Given the description of an element on the screen output the (x, y) to click on. 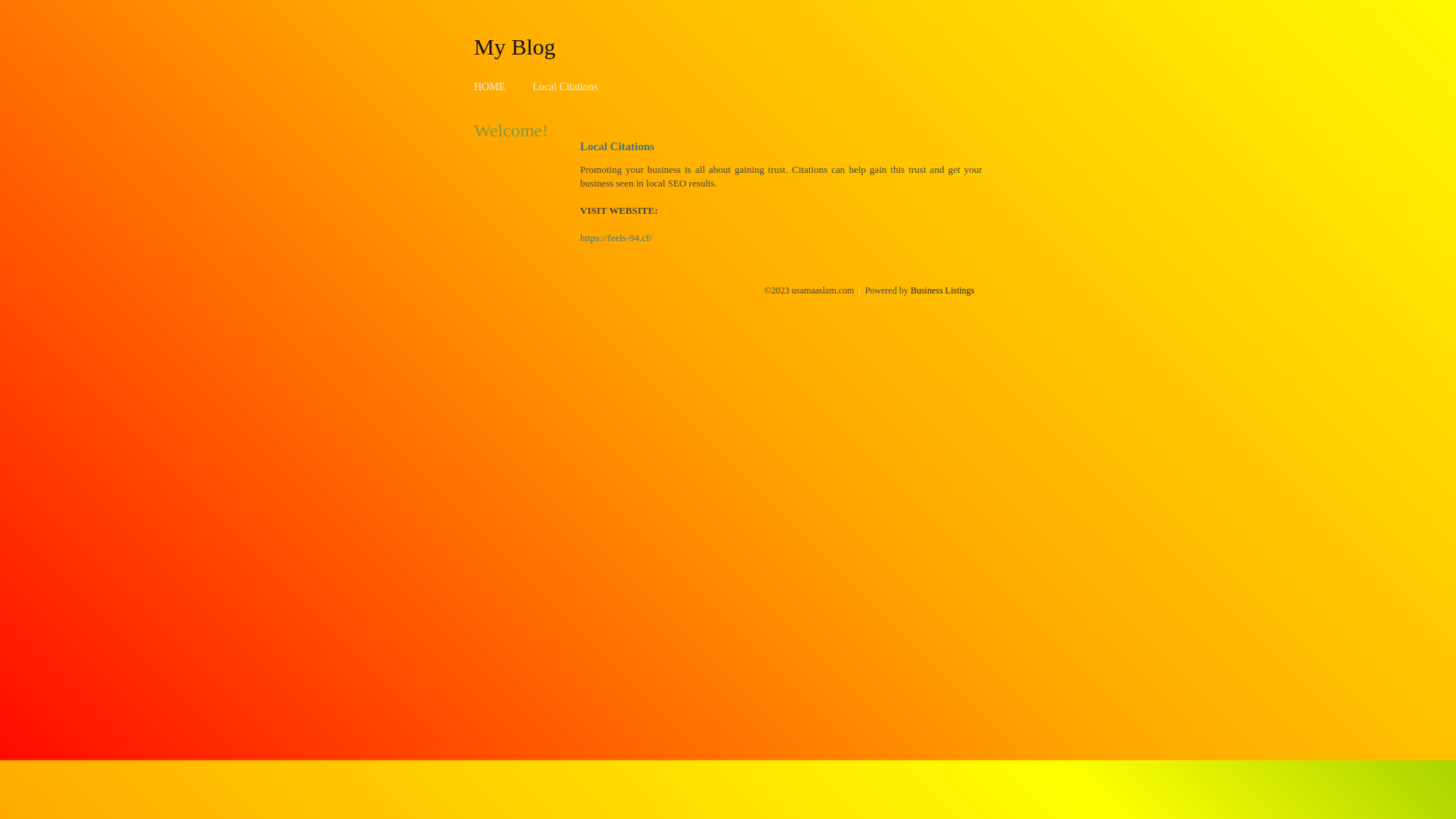
Business Listings Element type: text (942, 290)
HOME Element type: text (489, 86)
Local Citations Element type: text (564, 86)
My Blog Element type: text (514, 46)
https://feels-94.cf/ Element type: text (616, 237)
